Given the description of an element on the screen output the (x, y) to click on. 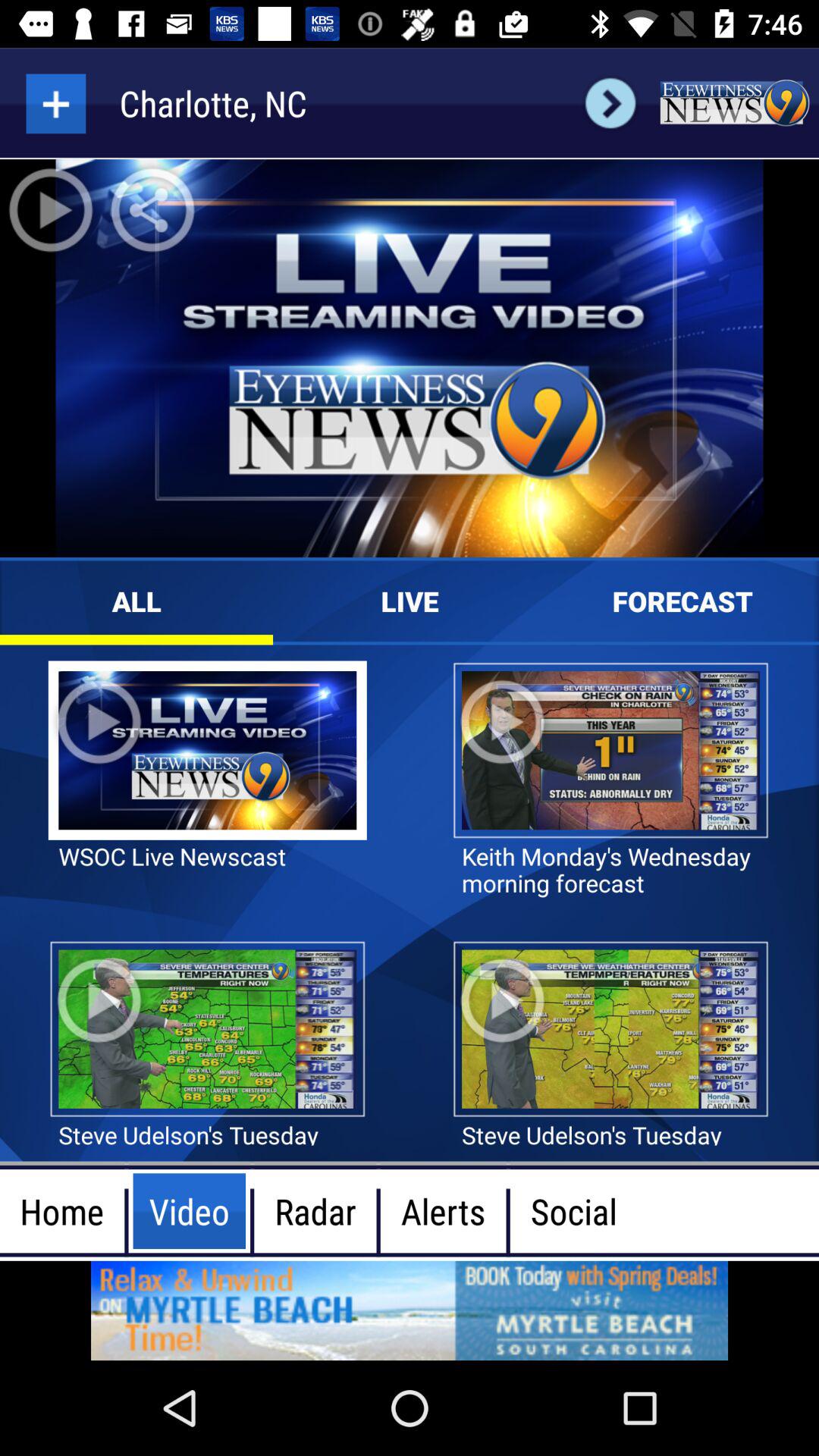
add location (55, 103)
